Given the description of an element on the screen output the (x, y) to click on. 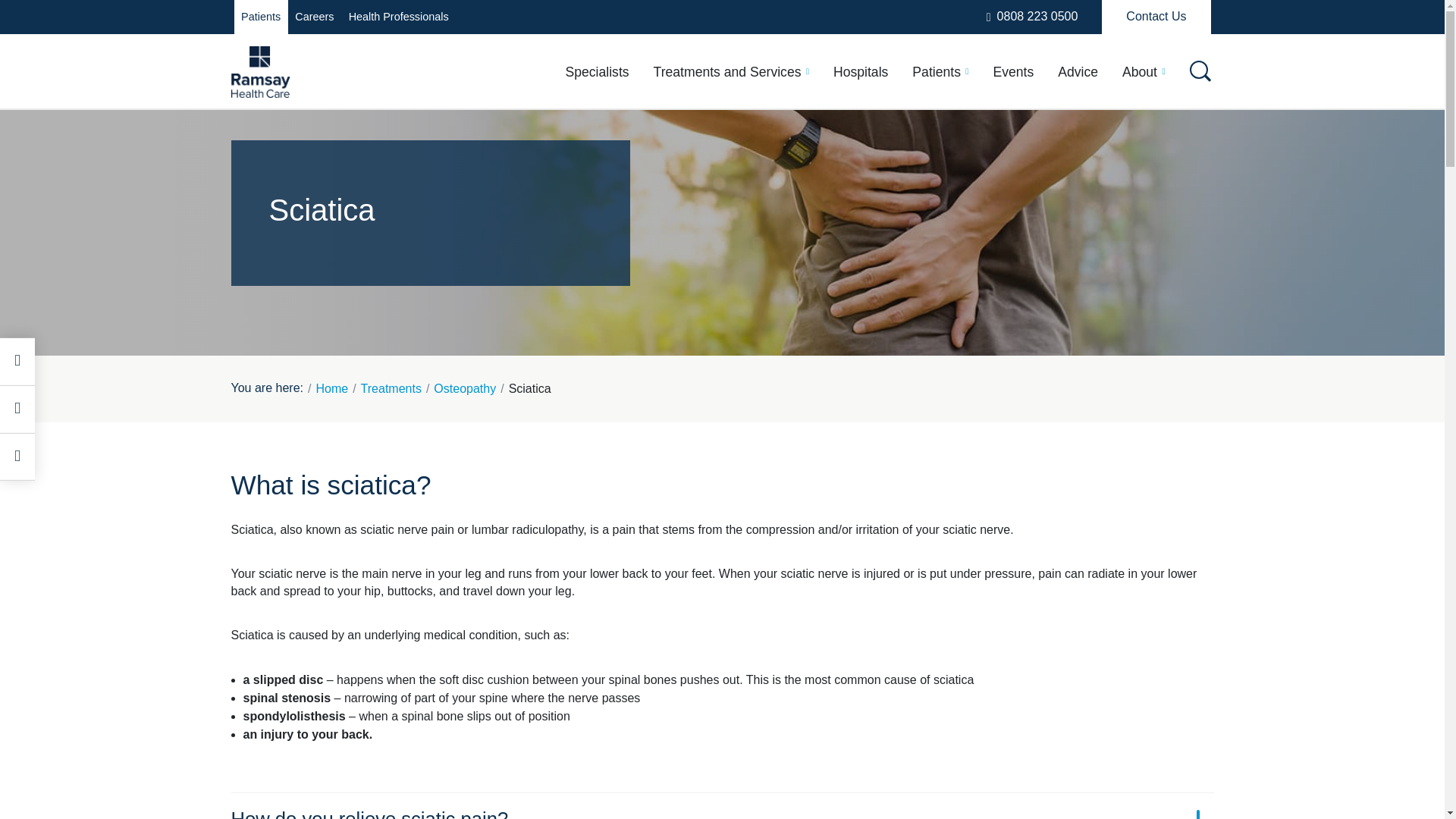
Heart Surgery (312, 291)
ENT Surgery (309, 235)
CT (1016, 179)
Search the page (721, 160)
Back Surgery (852, 179)
Mammography (1053, 235)
0808 223 0500 (1032, 17)
Eye Surgery (480, 235)
Treatments and Services (731, 71)
Gallbladder Surgery (700, 235)
